Given the description of an element on the screen output the (x, y) to click on. 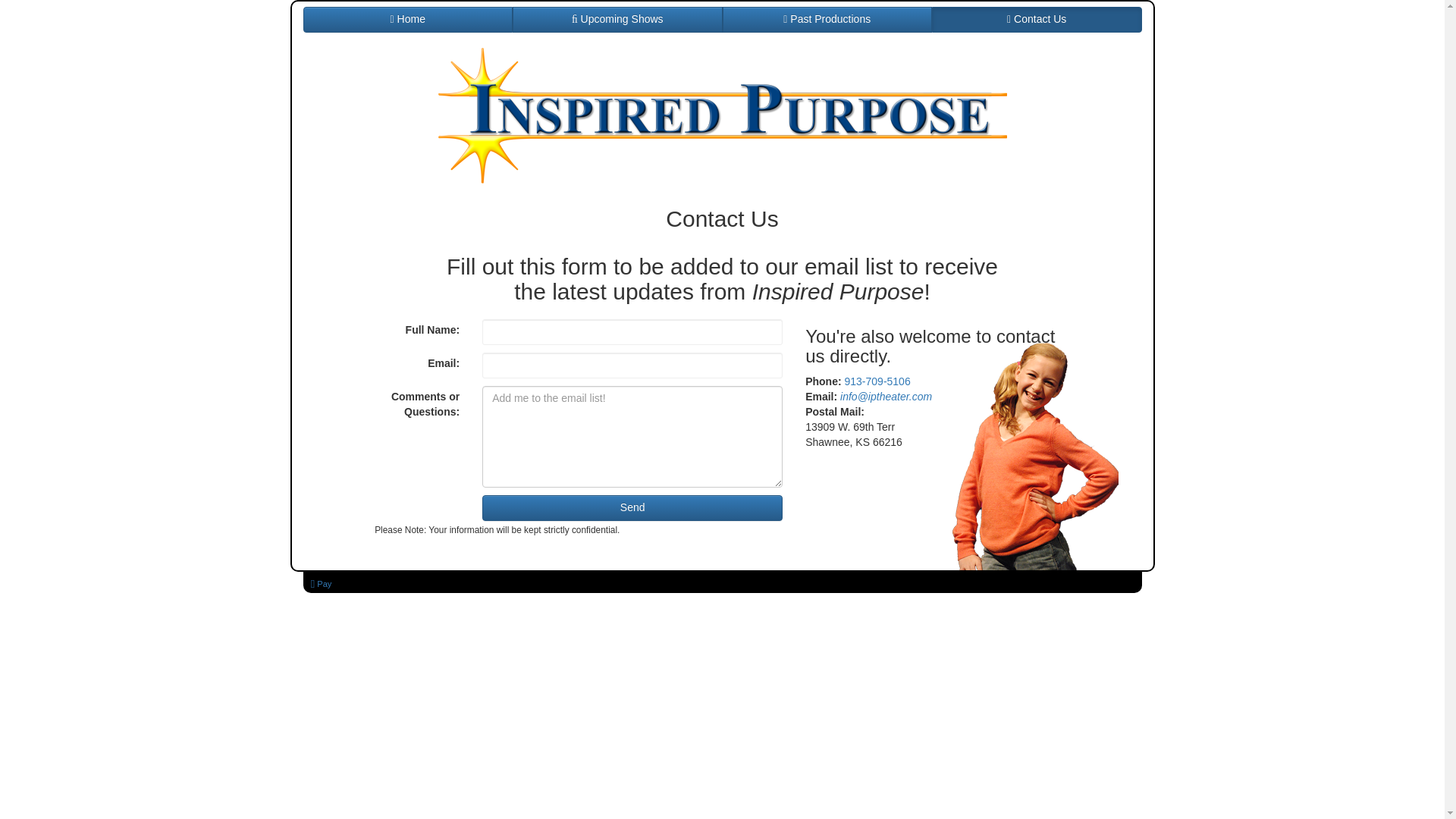
Upcoming Shows (617, 19)
Contact Us (1036, 19)
913-709-5106 (877, 381)
Contact Us (1036, 19)
Send (632, 507)
Send (632, 507)
Give us a call! (877, 381)
Home (407, 19)
Upcoming Shows (617, 19)
Past Productions (826, 19)
